Given the description of an element on the screen output the (x, y) to click on. 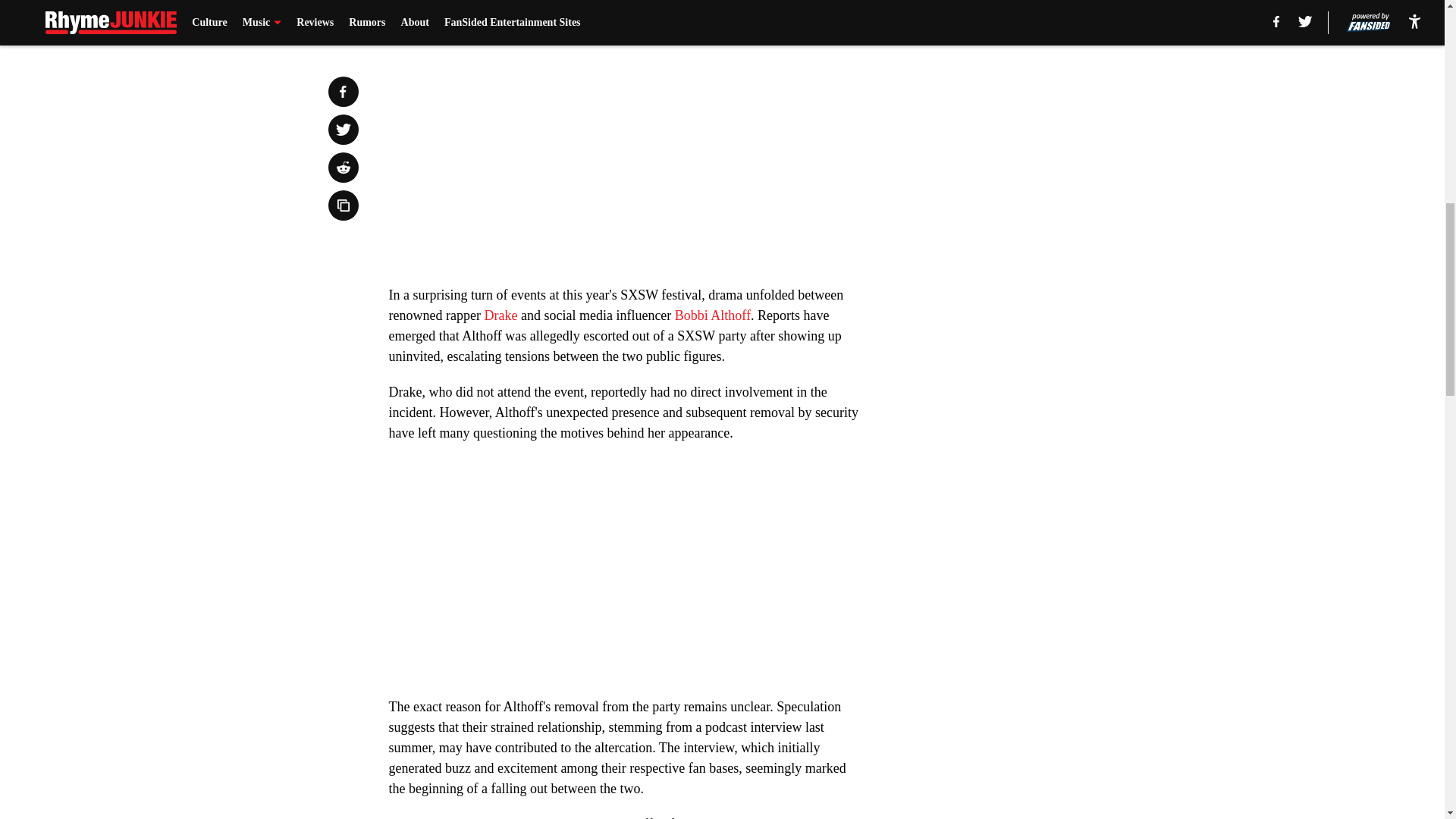
Drake (499, 314)
Bobbi Althoff (713, 314)
